Given the description of an element on the screen output the (x, y) to click on. 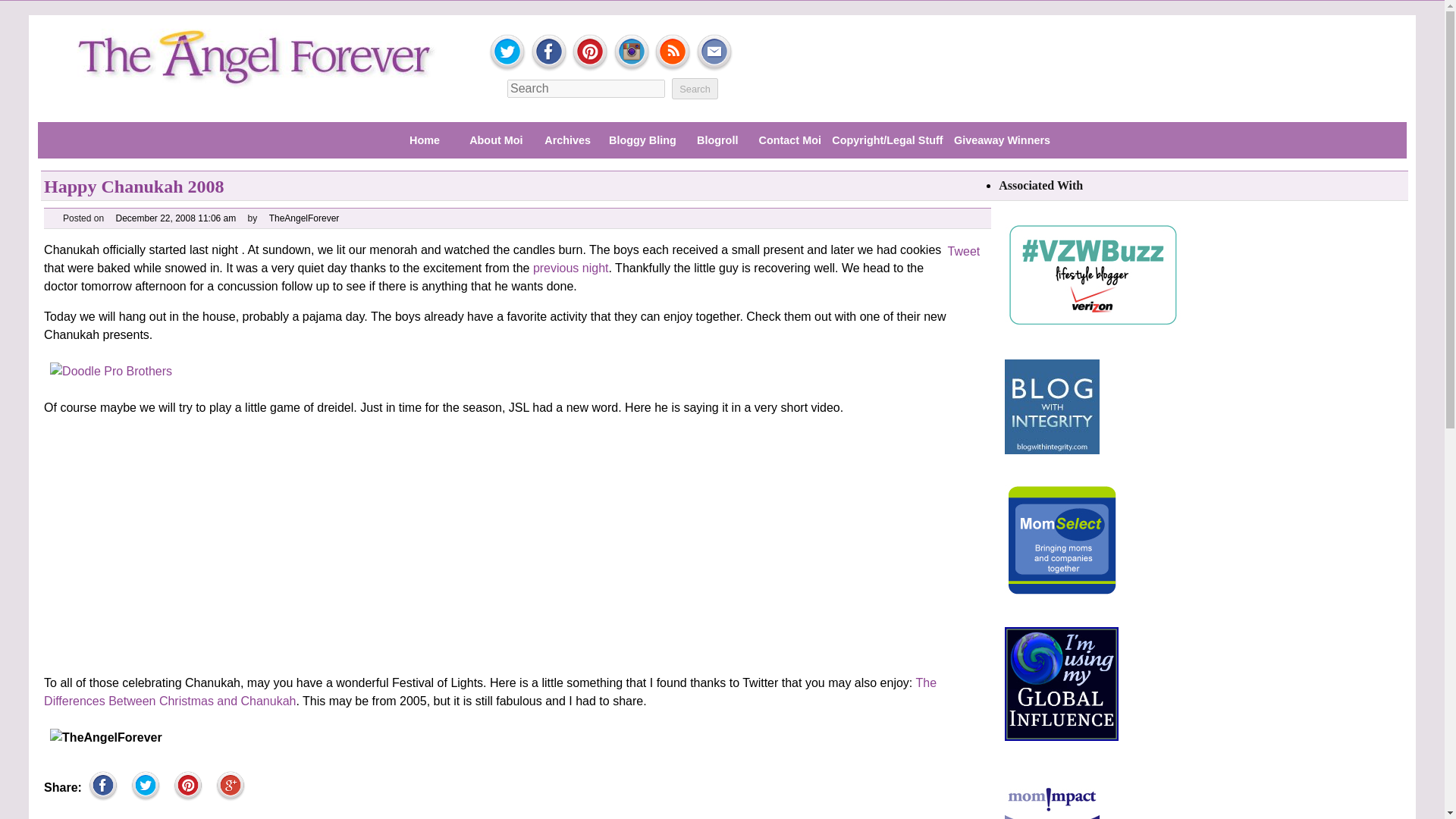
The Differences Between Christmas and Chanukah (489, 691)
TheAngelForever (304, 217)
Tweet (963, 250)
Contact Moi (789, 140)
Happy Chanukah 2008 (133, 186)
Home (424, 140)
Giveaway Winners (1002, 140)
previous night (570, 267)
About Moi (495, 140)
Search (694, 88)
December 22, 2008 11:06 am (175, 217)
Blogroll (716, 140)
View all posts by TheAngelForever (304, 217)
December 22, 2008 11:06 am (175, 217)
Archives (568, 140)
